Given the description of an element on the screen output the (x, y) to click on. 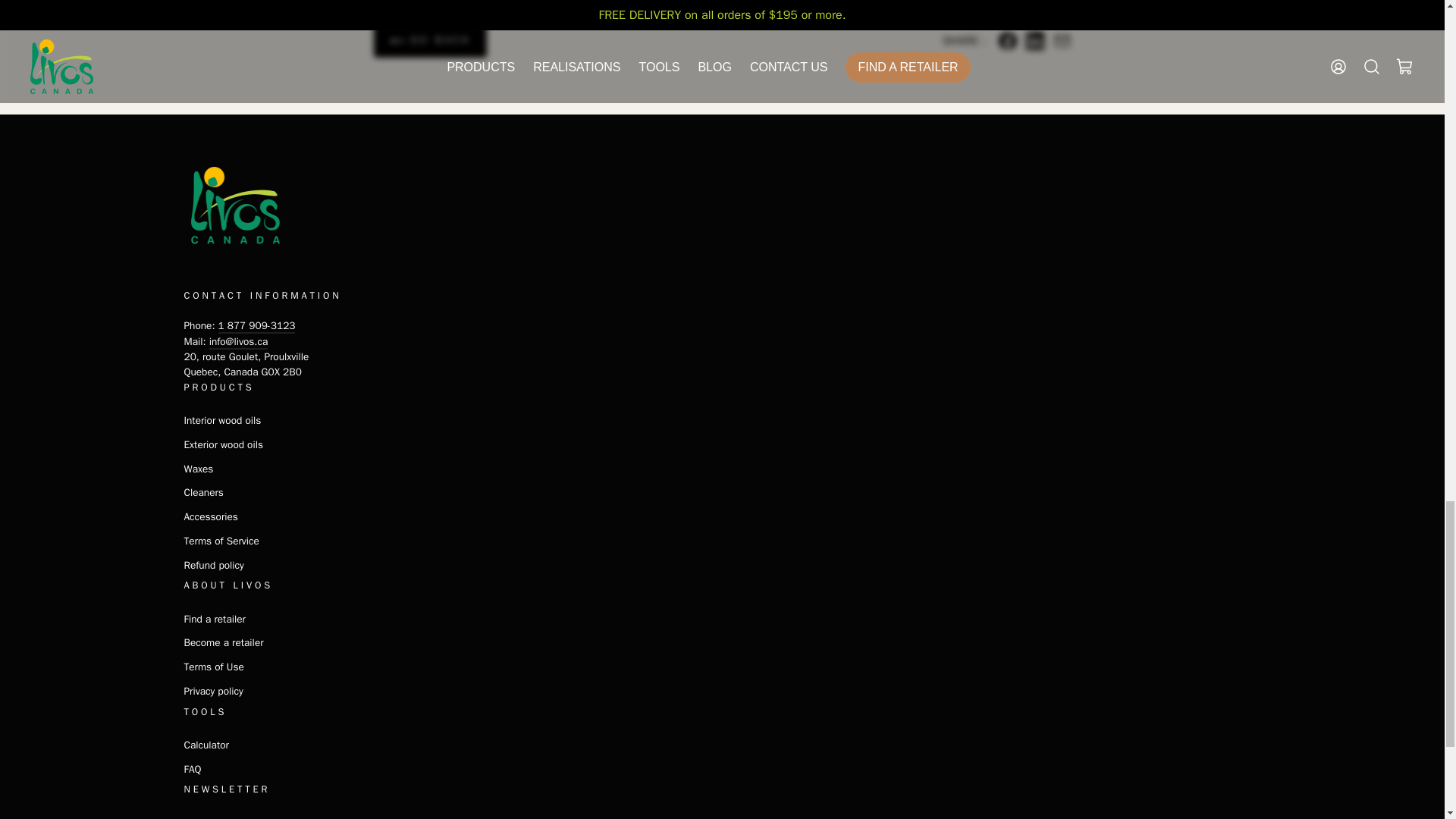
Interior wood oils (221, 420)
Terms of Service (221, 541)
GO BACK (429, 40)
Accessories (210, 516)
Exterior wood oils (223, 444)
tel:1-877-909-3123 (256, 326)
1 877 909-3123 (256, 326)
Waxes (197, 468)
Cleaners (202, 492)
